Given the description of an element on the screen output the (x, y) to click on. 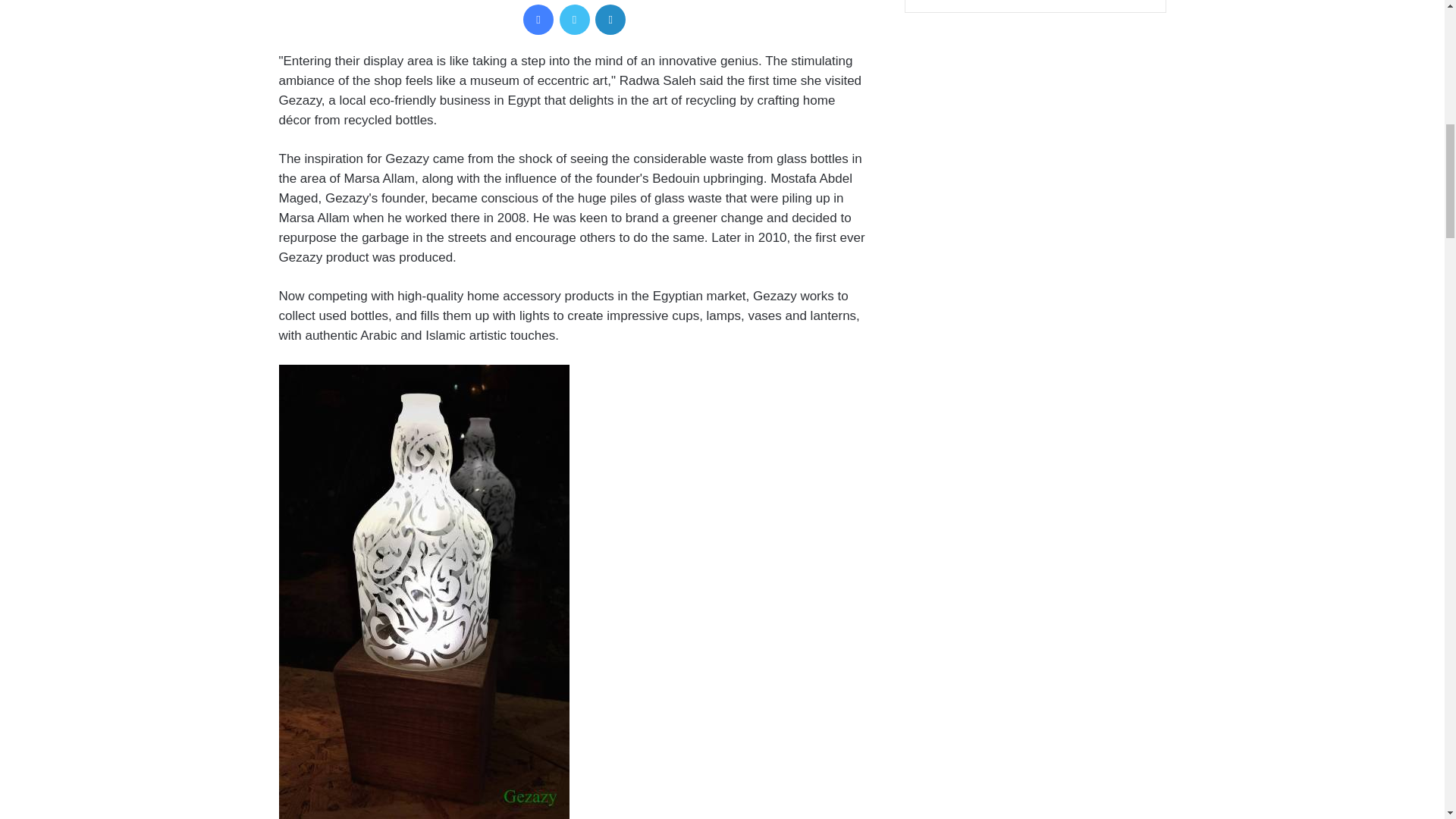
Twitter (574, 19)
Facebook (537, 19)
Twitter (574, 19)
LinkedIn (610, 19)
Facebook (537, 19)
LinkedIn (610, 19)
